Given the description of an element on the screen output the (x, y) to click on. 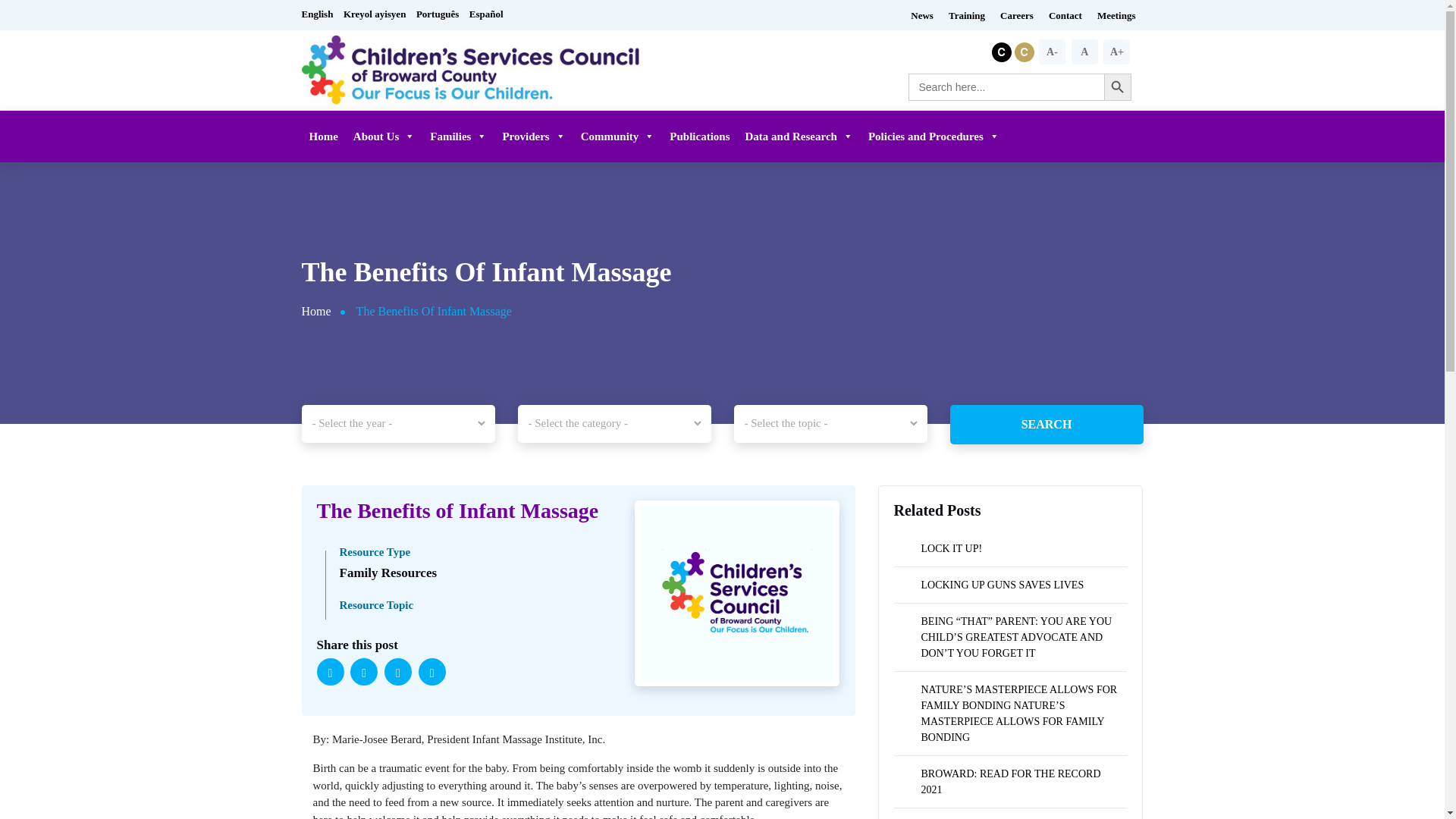
Contact (1065, 15)
About Us (383, 136)
Training (966, 15)
Providers (533, 136)
Search Button (1117, 86)
Dark Theme Button (1002, 50)
Colour Theme Button (1025, 50)
Home (322, 136)
Kreyol ayisyen (378, 13)
Home (322, 136)
Careers (1016, 15)
Kreyol ayisyen (378, 13)
Families (457, 136)
English (320, 13)
About Us (383, 136)
